Given the description of an element on the screen output the (x, y) to click on. 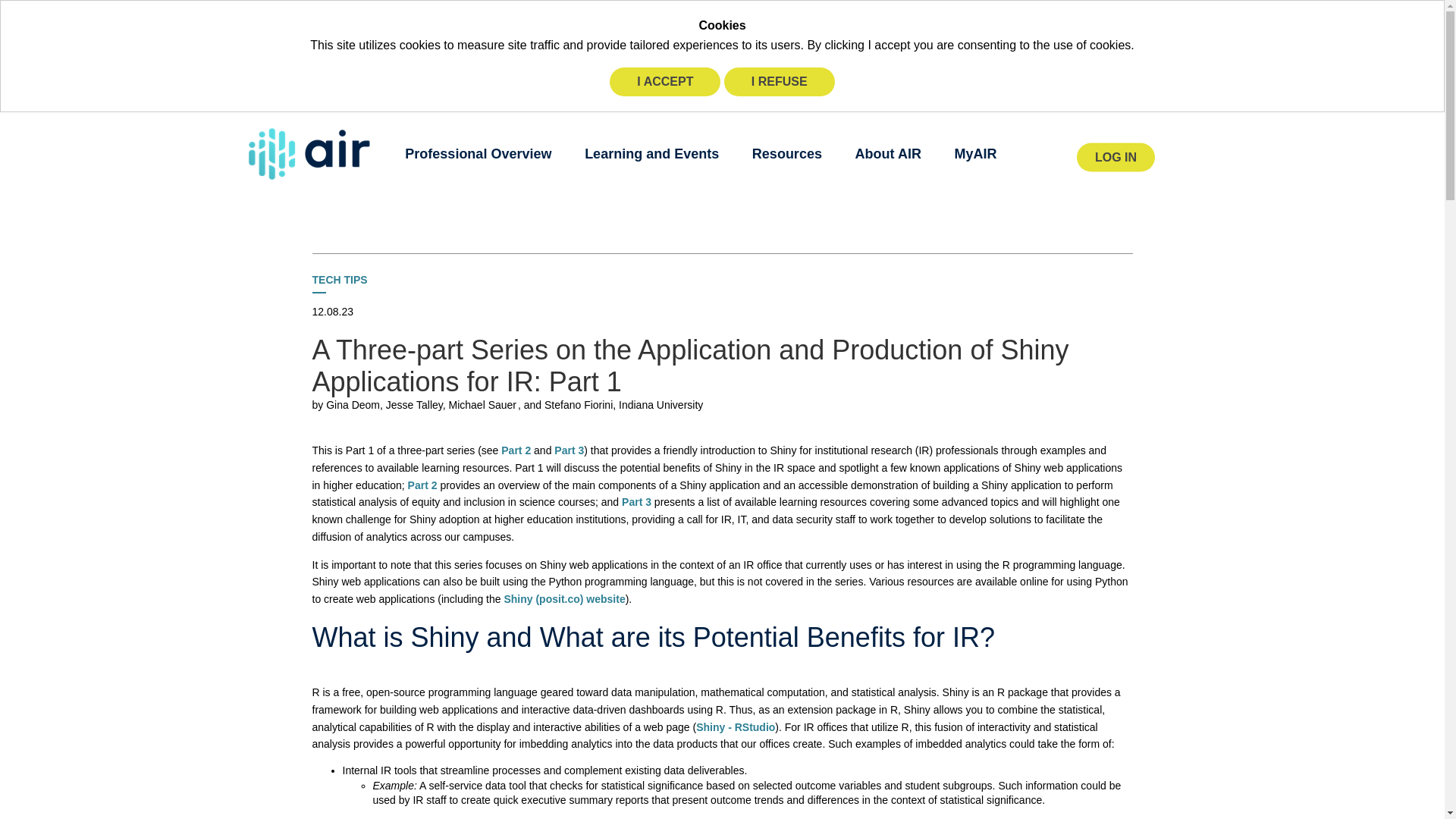
Resources (786, 153)
I REFUSE (778, 81)
I ACCEPT (665, 81)
Learning and Events (651, 153)
Professional Overview (477, 153)
